Given the description of an element on the screen output the (x, y) to click on. 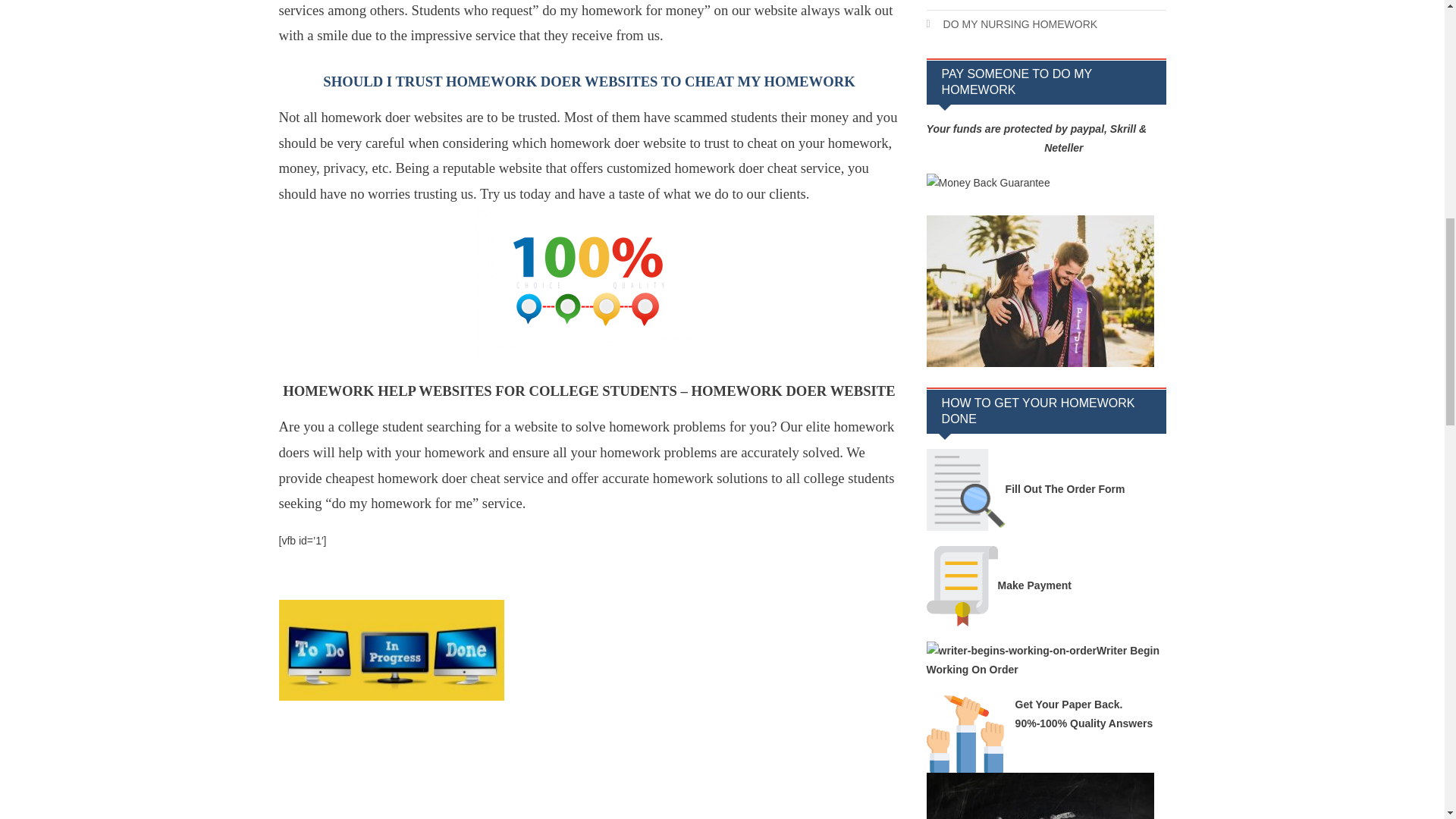
DO MY PHYSICS HOMEWORK (1010, 2)
DO MY NURSING HOMEWORK (1011, 24)
SHOULD I TRUST HOMEWORK DOER WEBSITES TO CHEAT MY HOMEWORK (588, 78)
